Given the description of an element on the screen output the (x, y) to click on. 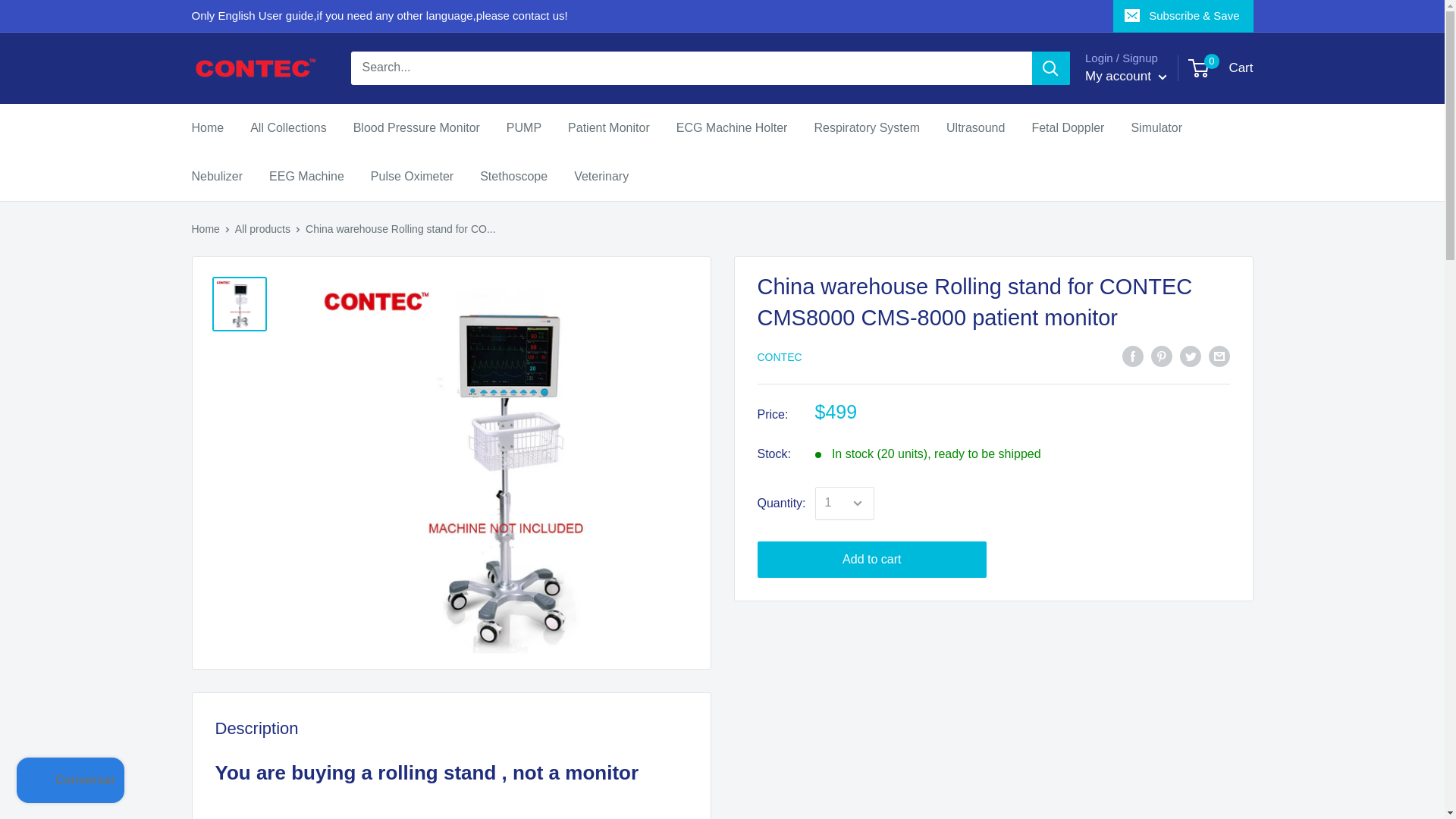
My account (1125, 76)
Conversa da loja online da Shopify (70, 781)
Home (1221, 68)
